Given the description of an element on the screen output the (x, y) to click on. 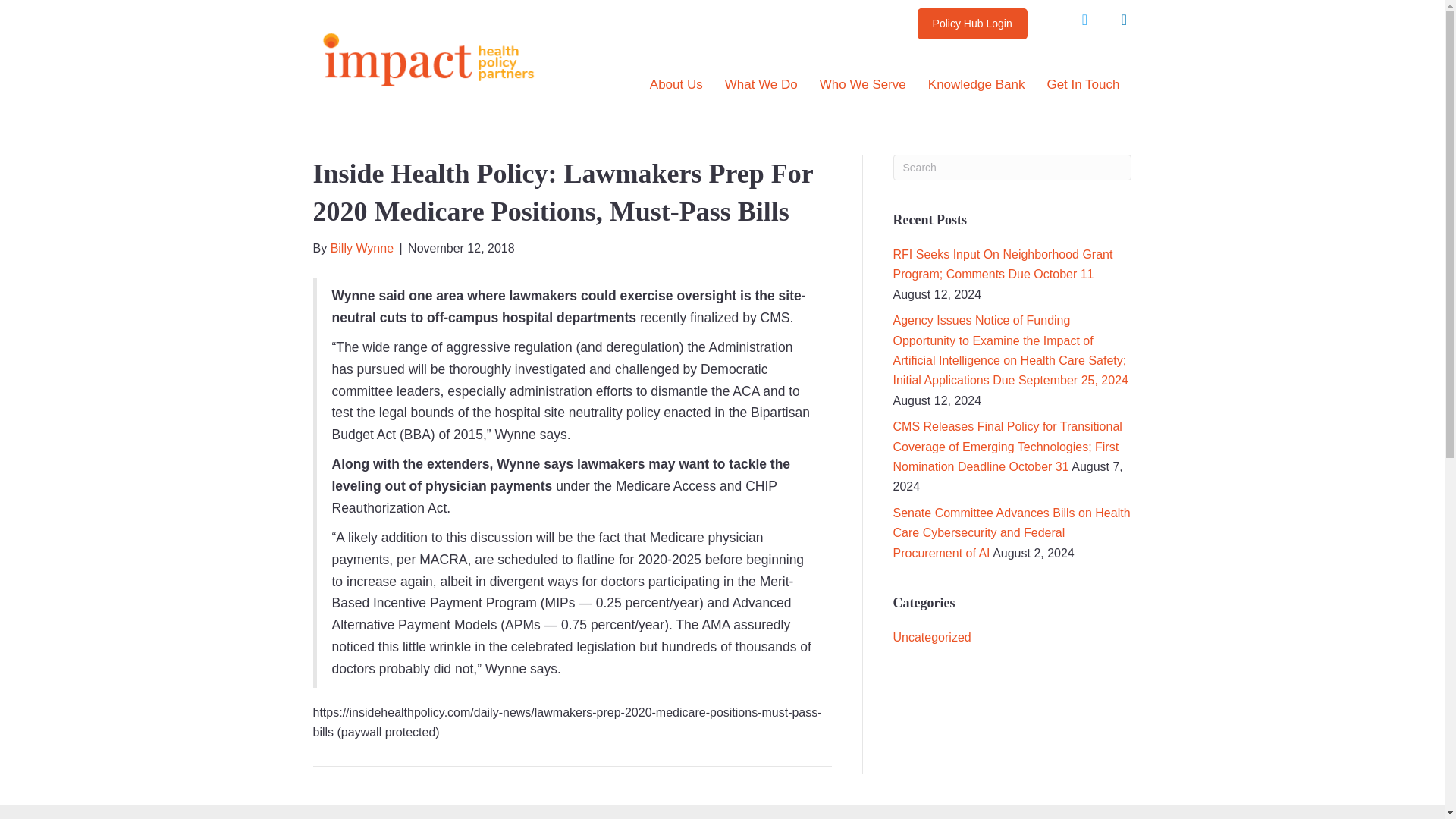
Billy Wynne (361, 247)
Type and press Enter to search. (1012, 167)
Knowledge Bank (976, 84)
Twitter (1083, 19)
Uncategorized (932, 636)
Get In Touch (1082, 84)
About Us (676, 84)
LinkedIn (1123, 19)
